Given the description of an element on the screen output the (x, y) to click on. 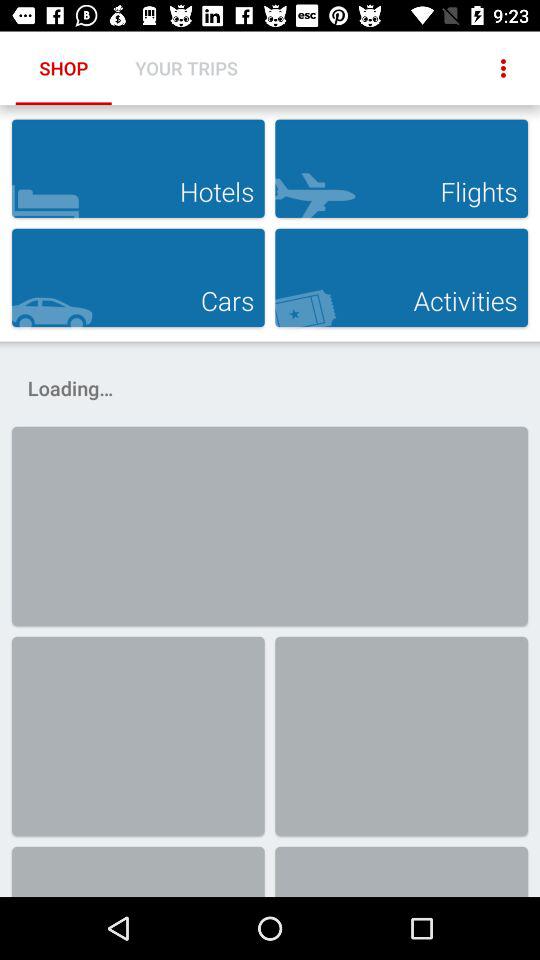
launch the icon to the right of your trips item (503, 68)
